Given the description of an element on the screen output the (x, y) to click on. 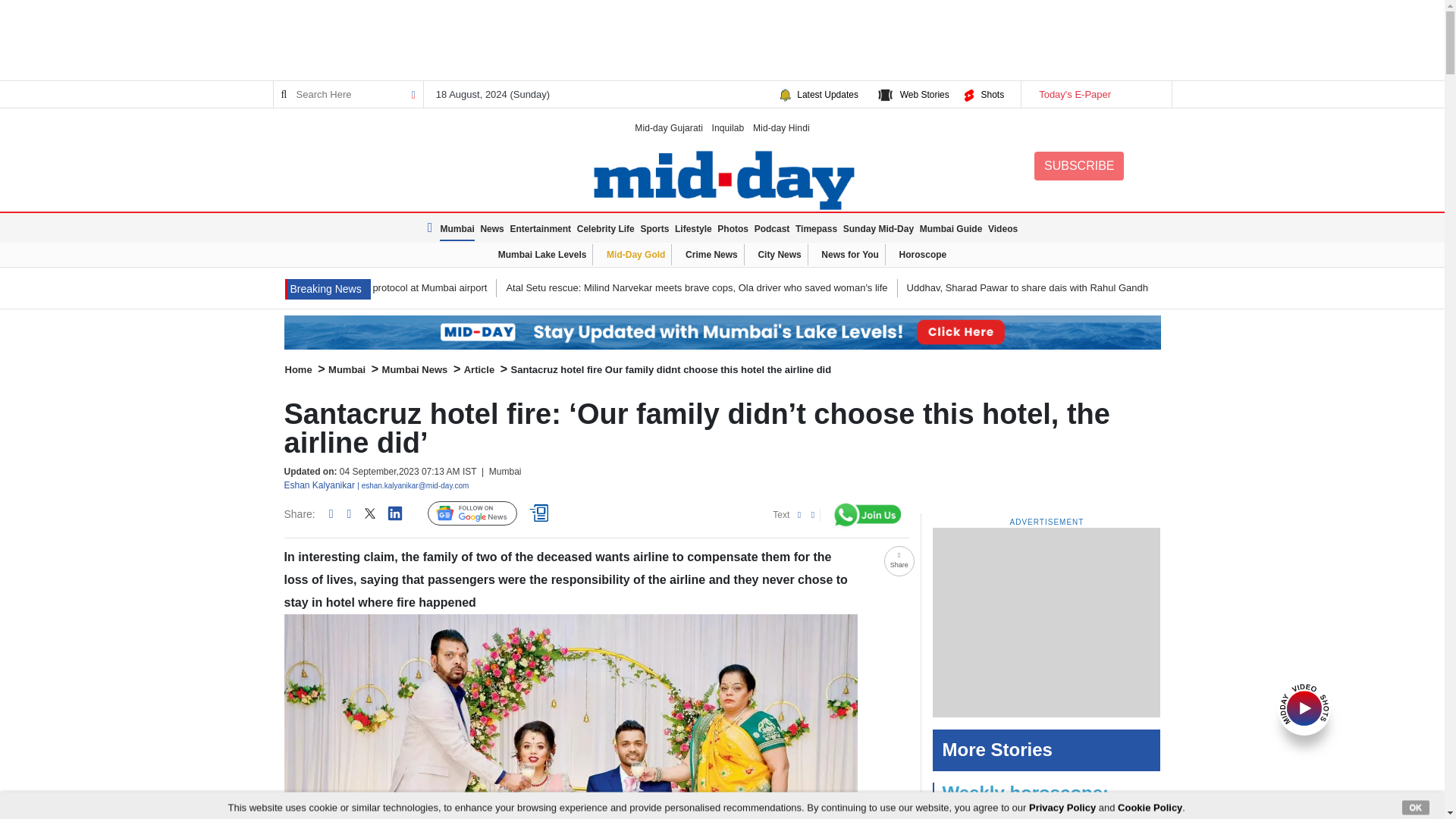
Today's E-Paper (1095, 94)
Mid-day Gujarati (668, 127)
Inquilab (728, 127)
Latest Updates (827, 94)
Web Stories (924, 94)
Shots (991, 94)
Quick Reads (541, 513)
Latest News (432, 227)
Midday Shot Videos (1304, 706)
Latest News (328, 289)
